Given the description of an element on the screen output the (x, y) to click on. 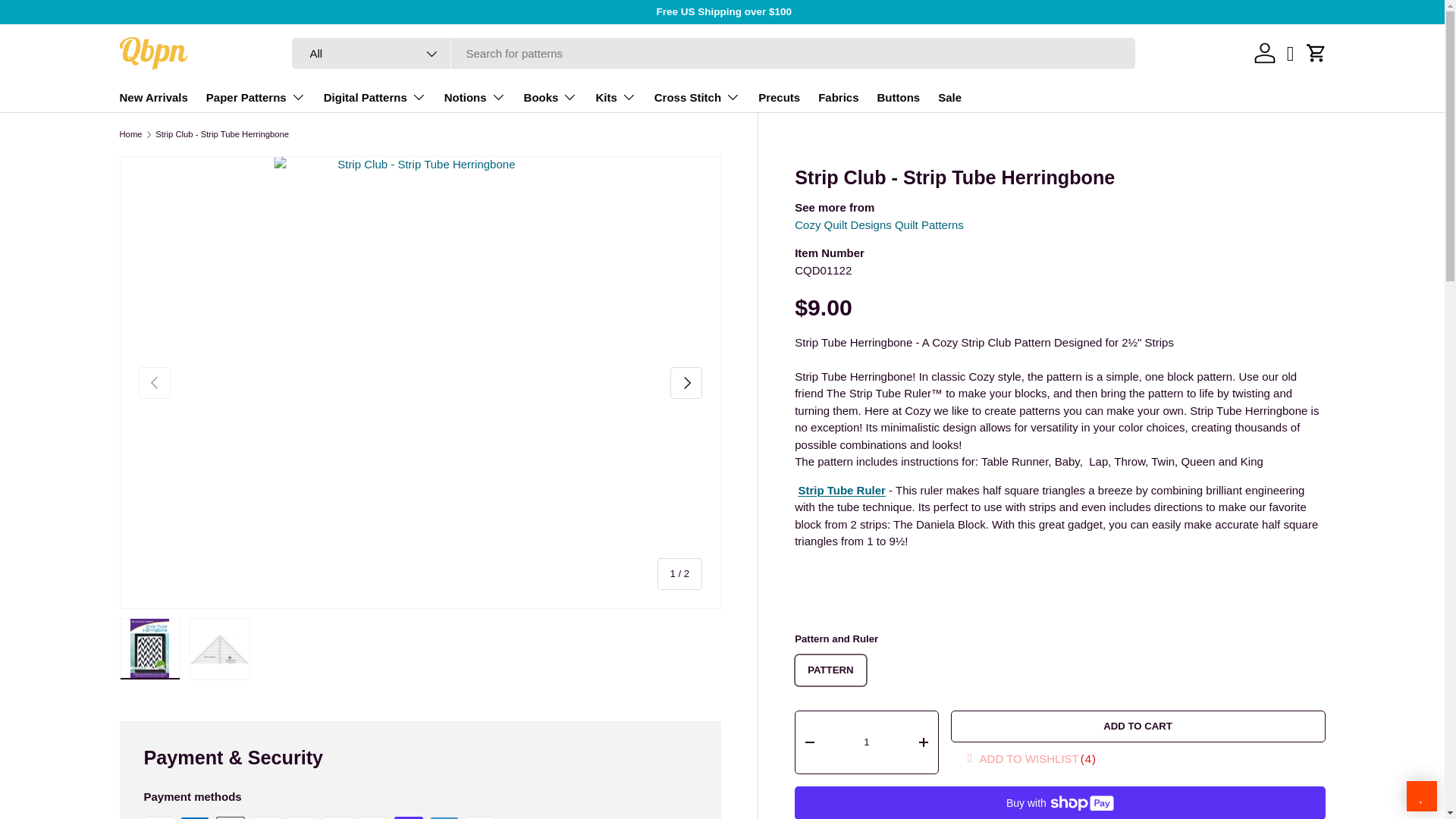
1 (866, 742)
Log in (1264, 52)
Cart (1316, 52)
SKIP TO CONTENT (68, 21)
All (371, 52)
New Arrivals (153, 97)
Paper Patterns (255, 96)
Digital Patterns (374, 96)
